Given the description of an element on the screen output the (x, y) to click on. 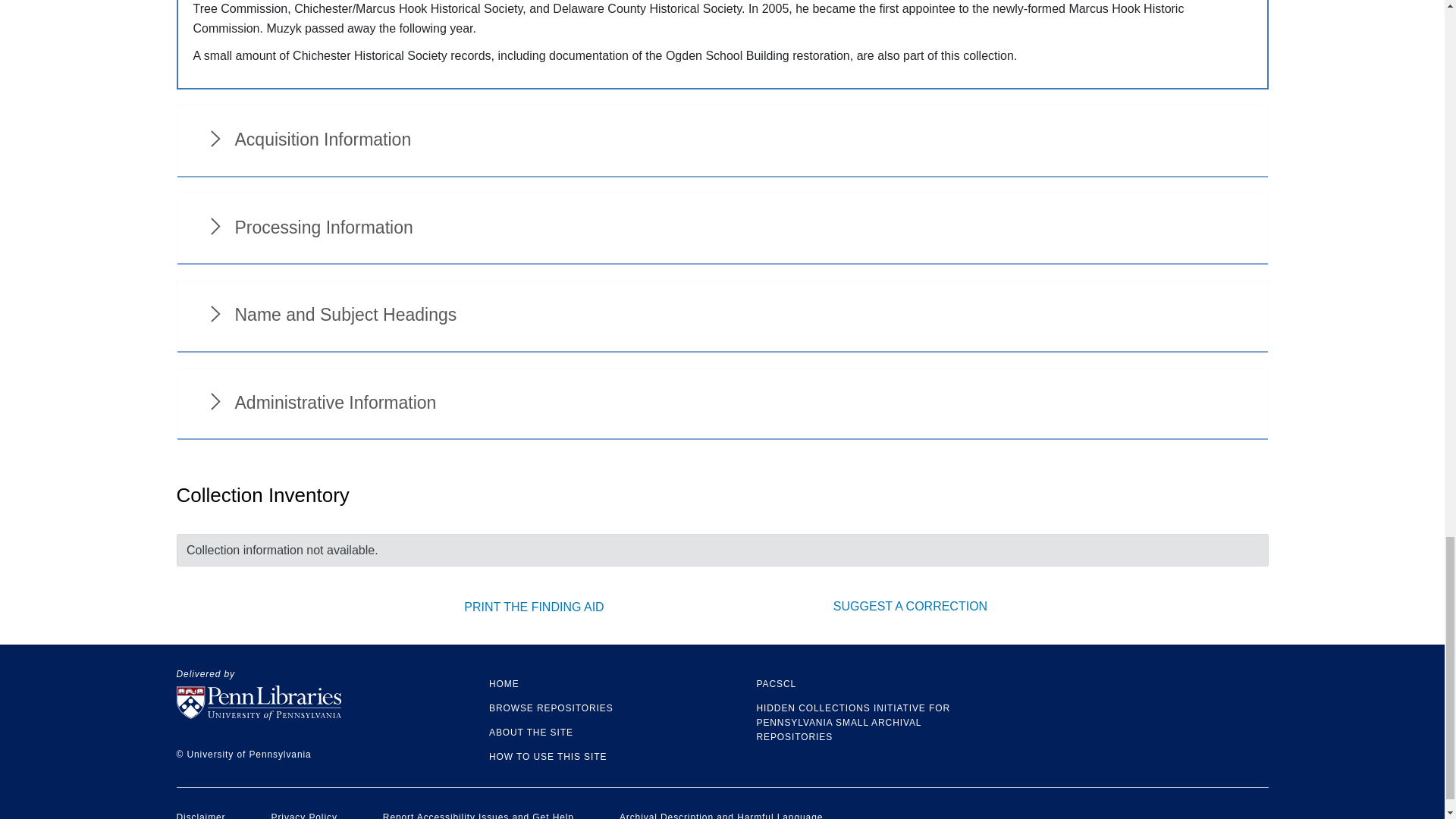
Privacy Policy (303, 815)
PRINT THE FINDING AID (534, 607)
Processing Information (722, 228)
Disclaimer (200, 815)
ABOUT THE SITE (531, 732)
Acquisition Information (722, 140)
HOME (504, 683)
Administrative Information (722, 403)
SUGGEST A CORRECTION (909, 605)
HOW TO USE THIS SITE (548, 756)
Report Accessibility Issues and Get Help (477, 815)
Name and Subject Headings (722, 316)
Archival Description and Harmful Language (721, 815)
BROWSE REPOSITORIES (550, 707)
